Given the description of an element on the screen output the (x, y) to click on. 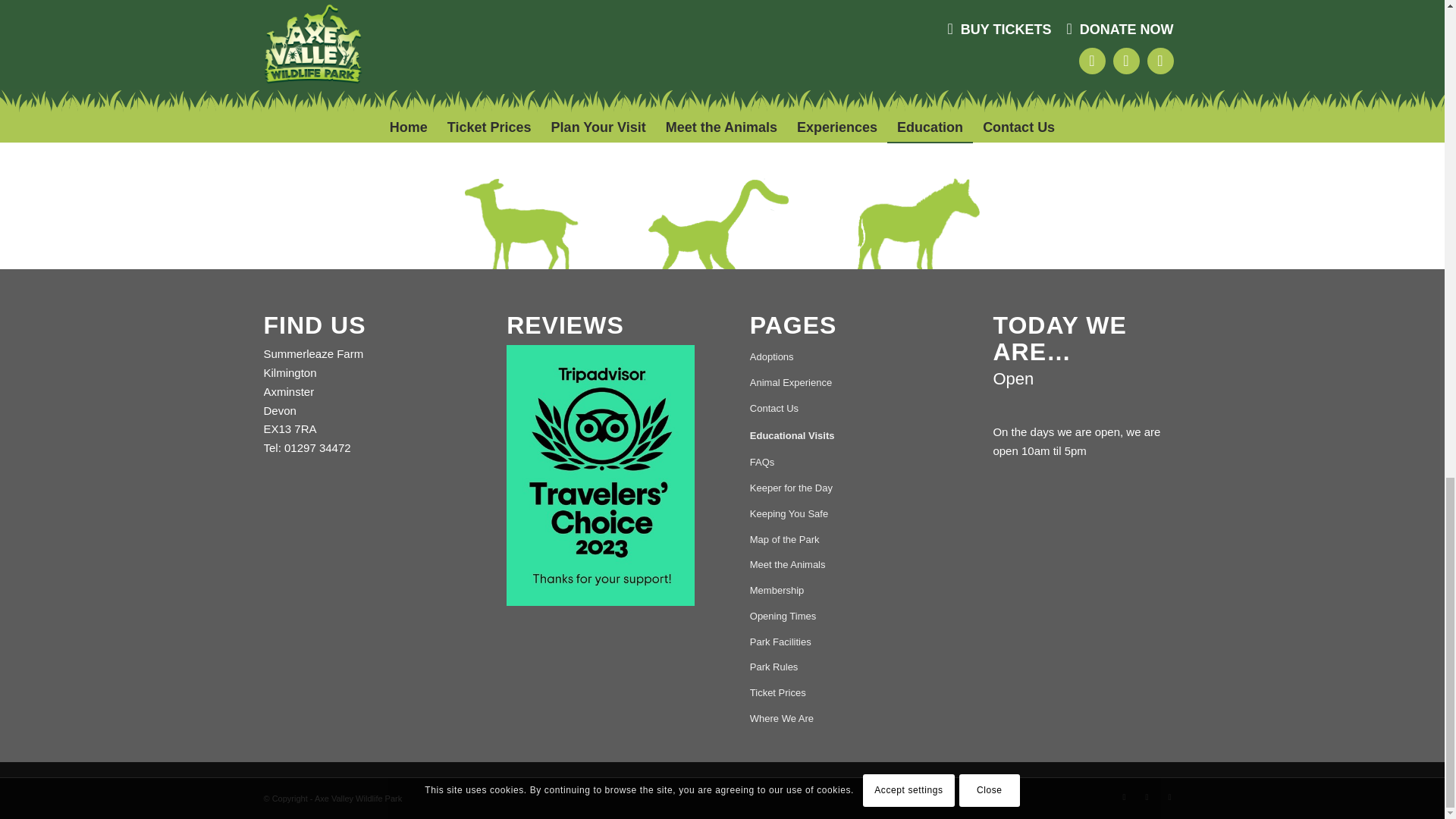
Facebook (1124, 796)
Contact Us (843, 409)
Animal Experience (843, 383)
Educational Visits (843, 436)
Twitter (1169, 796)
Adoptions (843, 357)
Download the booking form (333, 42)
cat (1046, 70)
Instagram (1146, 796)
